Given the description of an element on the screen output the (x, y) to click on. 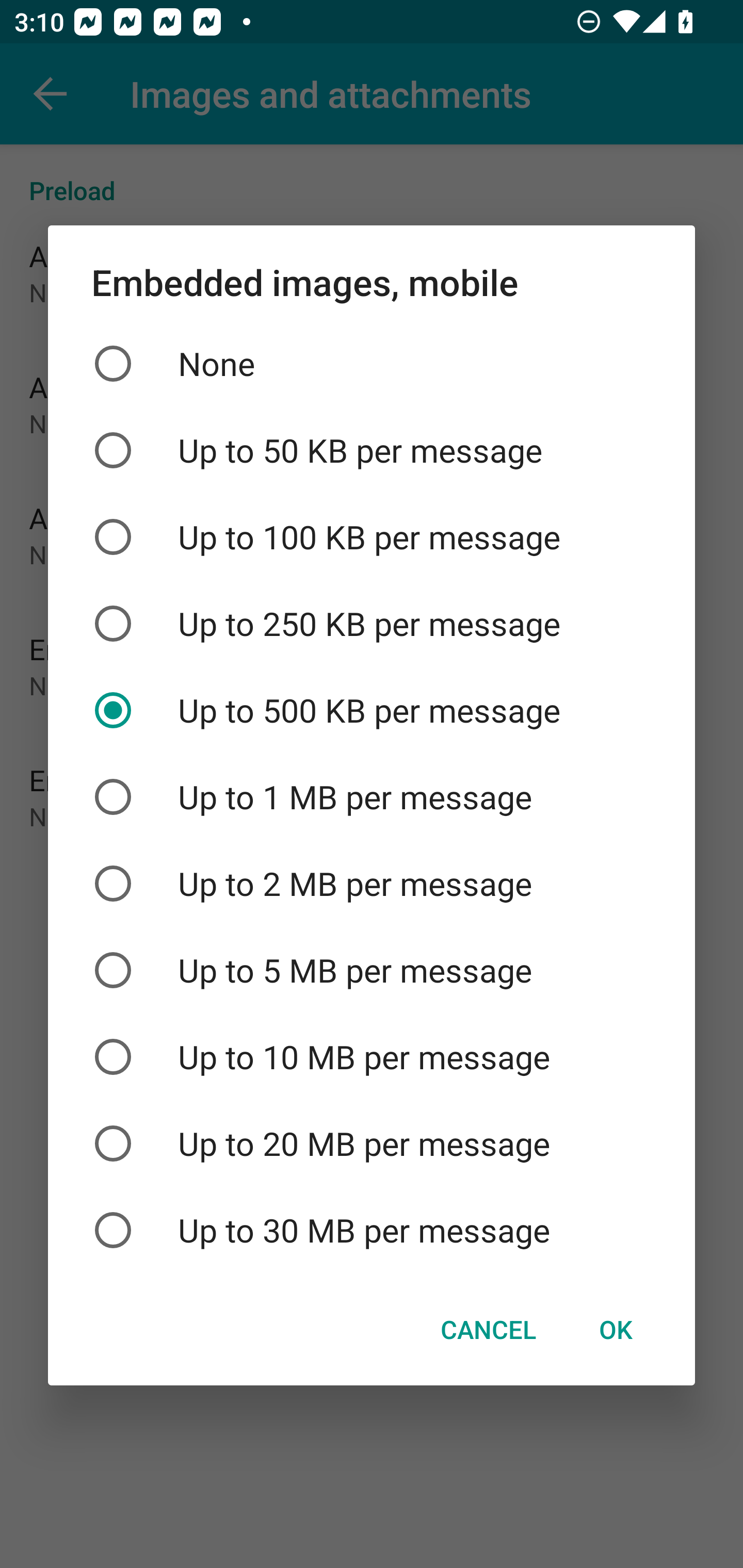
None (371, 363)
Up to 50 KB per message (371, 450)
Up to 100 KB per message (371, 536)
Up to 250 KB per message (371, 623)
Up to 500 KB per message (371, 710)
Up to 1 MB per message (371, 797)
Up to 2 MB per message (371, 883)
Up to 5 MB per message (371, 969)
Up to 10 MB per message (371, 1056)
Up to 20 MB per message (371, 1143)
Up to 30 MB per message (371, 1229)
CANCEL (488, 1329)
OK (615, 1329)
